Given the description of an element on the screen output the (x, y) to click on. 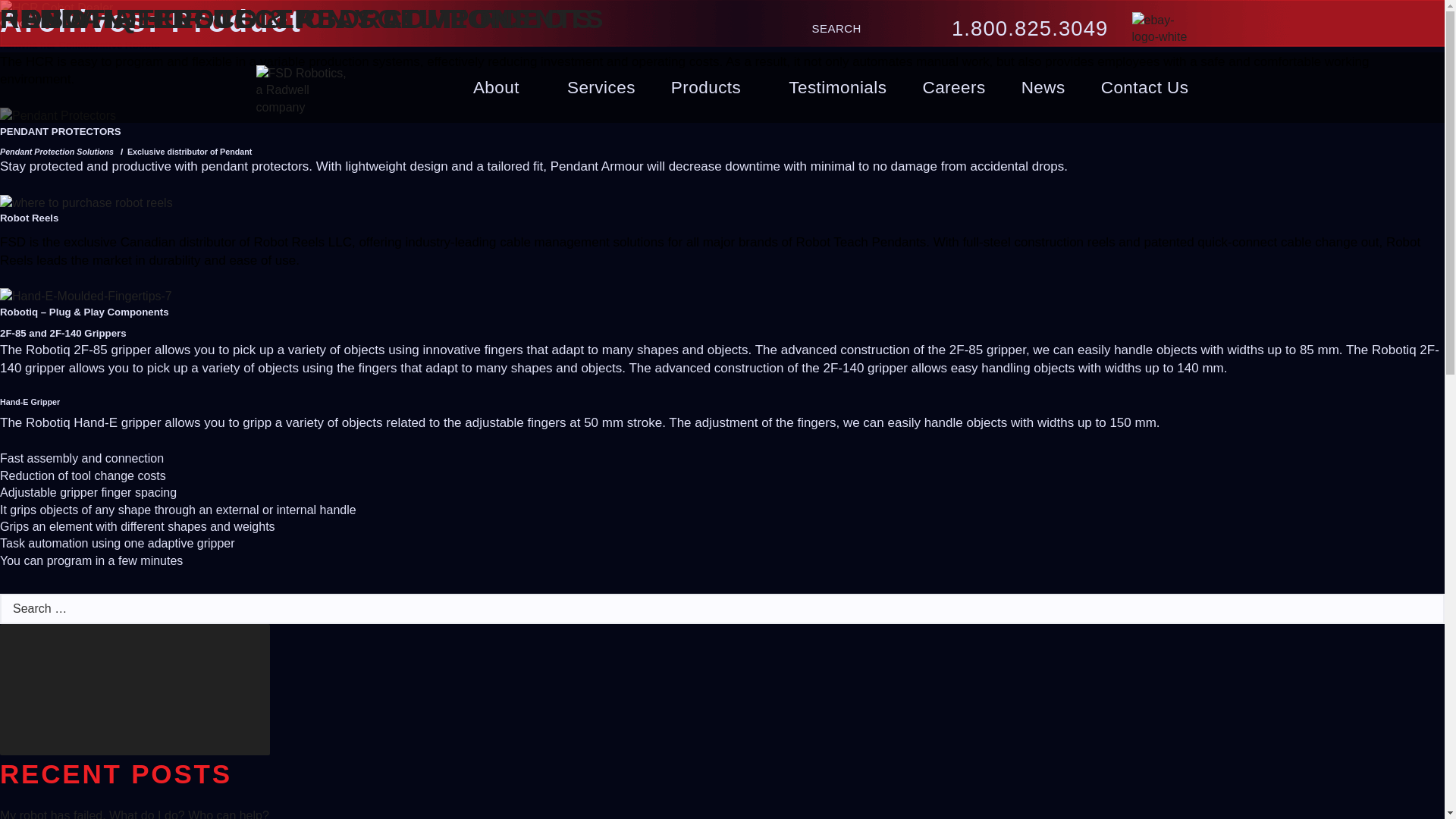
Contact Us (1144, 87)
Services (600, 87)
Ebay (1159, 36)
PENDANT PROTECTION SOLUTIONS (265, 18)
SEARCH (839, 28)
1.800.825.3049 (1030, 29)
Products (711, 87)
Search (839, 28)
Products (711, 87)
Contact Us (1144, 87)
